Given the description of an element on the screen output the (x, y) to click on. 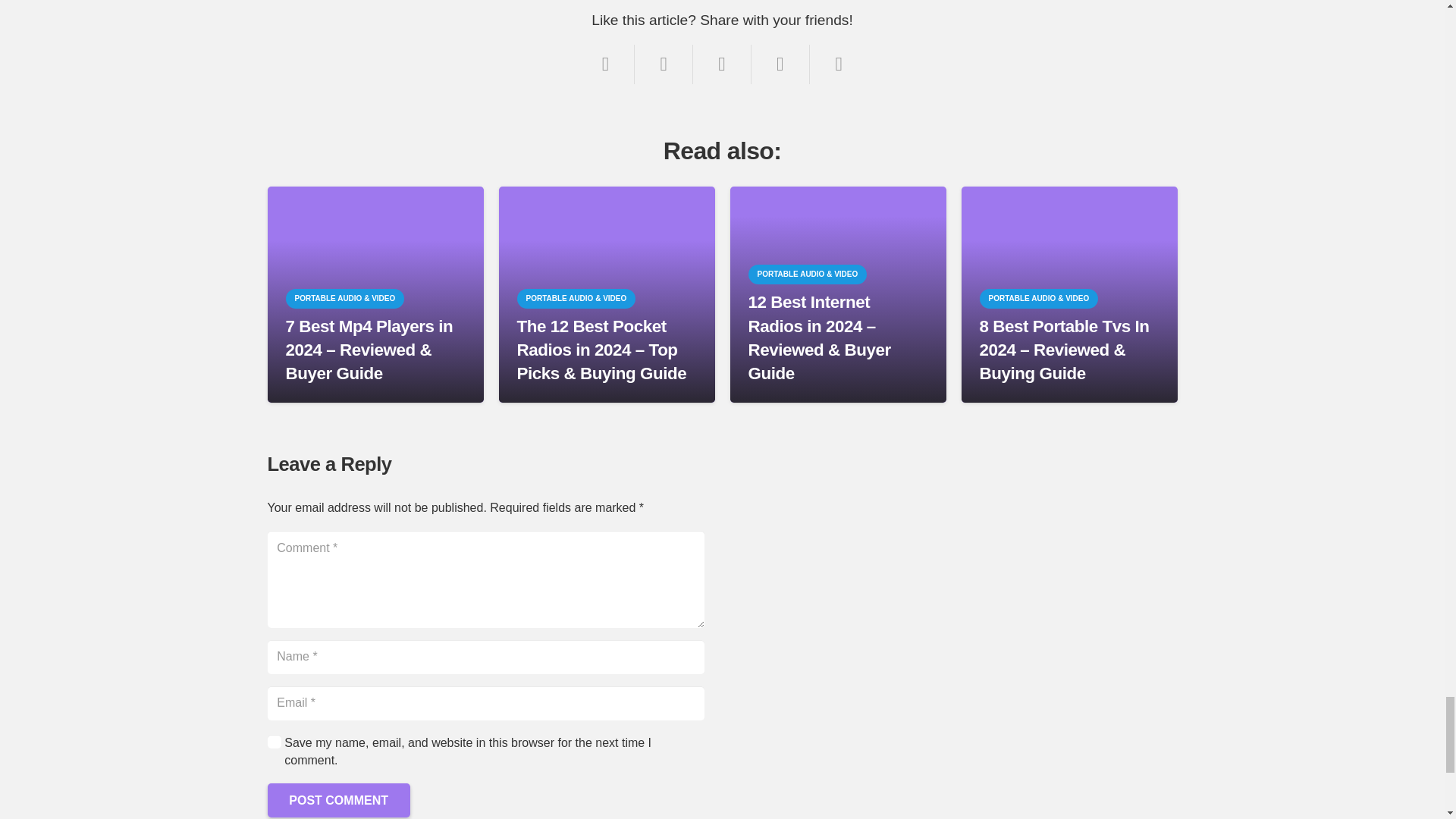
1 (273, 740)
